Given the description of an element on the screen output the (x, y) to click on. 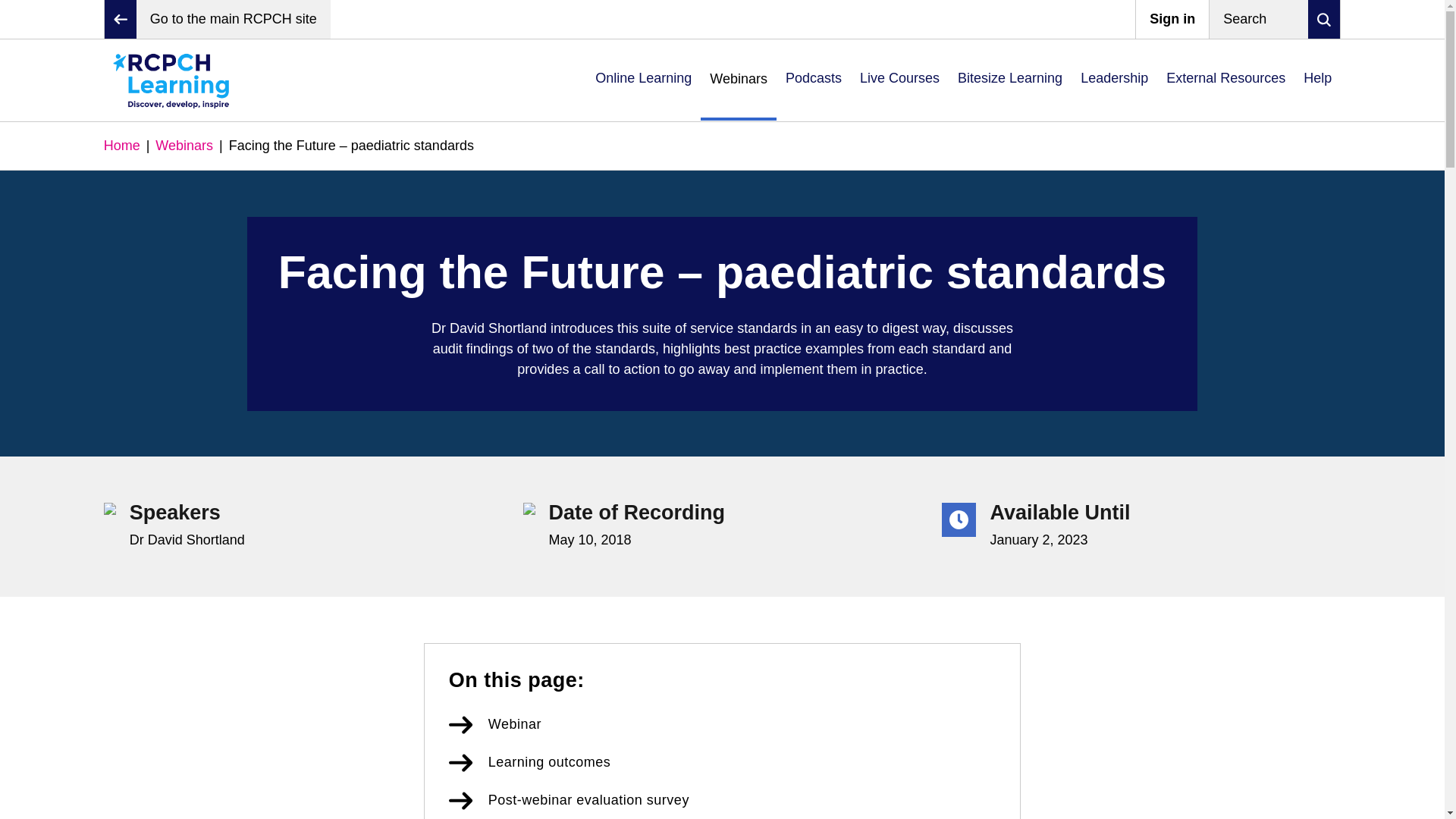
Live Courses (899, 80)
Bitesize Learning (1010, 80)
Podcasts (813, 80)
Webinars (738, 79)
Go to the main RCPCH site (216, 19)
Sign in (1171, 19)
Search (1274, 19)
Online Learning (643, 80)
Leadership (1114, 80)
External Resources (1225, 80)
